Given the description of an element on the screen output the (x, y) to click on. 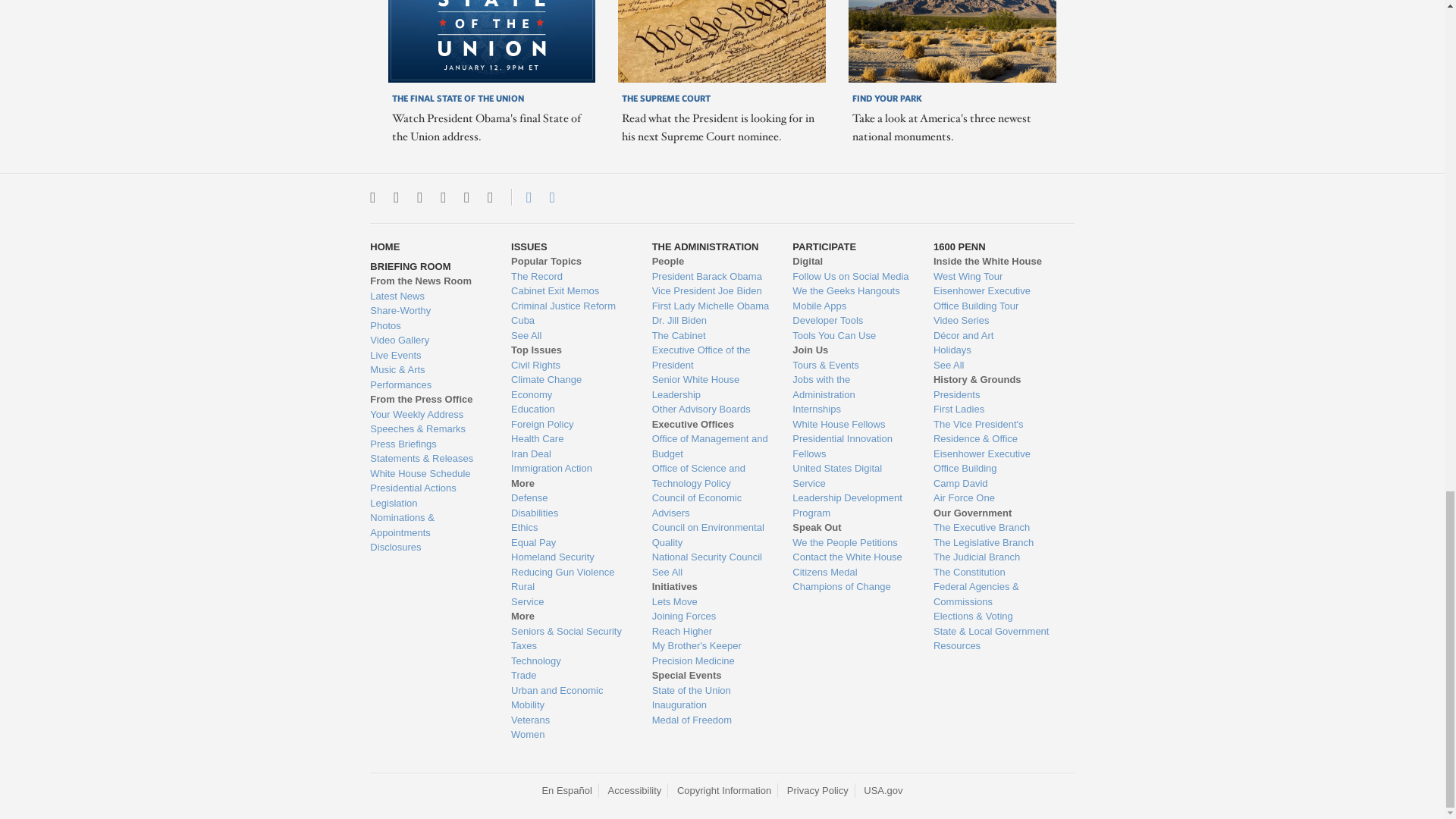
More ways to engage with the Whitehouse. (490, 197)
Contact the Whitehouse. (521, 197)
Email the Whitehouse. (552, 197)
Follow the Whitehouse on Twitter. (372, 197)
Visit The Whitehouse Channel on Youtube. (466, 197)
Like the Whitehouse on Facebook. (419, 197)
See the Whitehouse on Instagram. (395, 197)
